Given the description of an element on the screen output the (x, y) to click on. 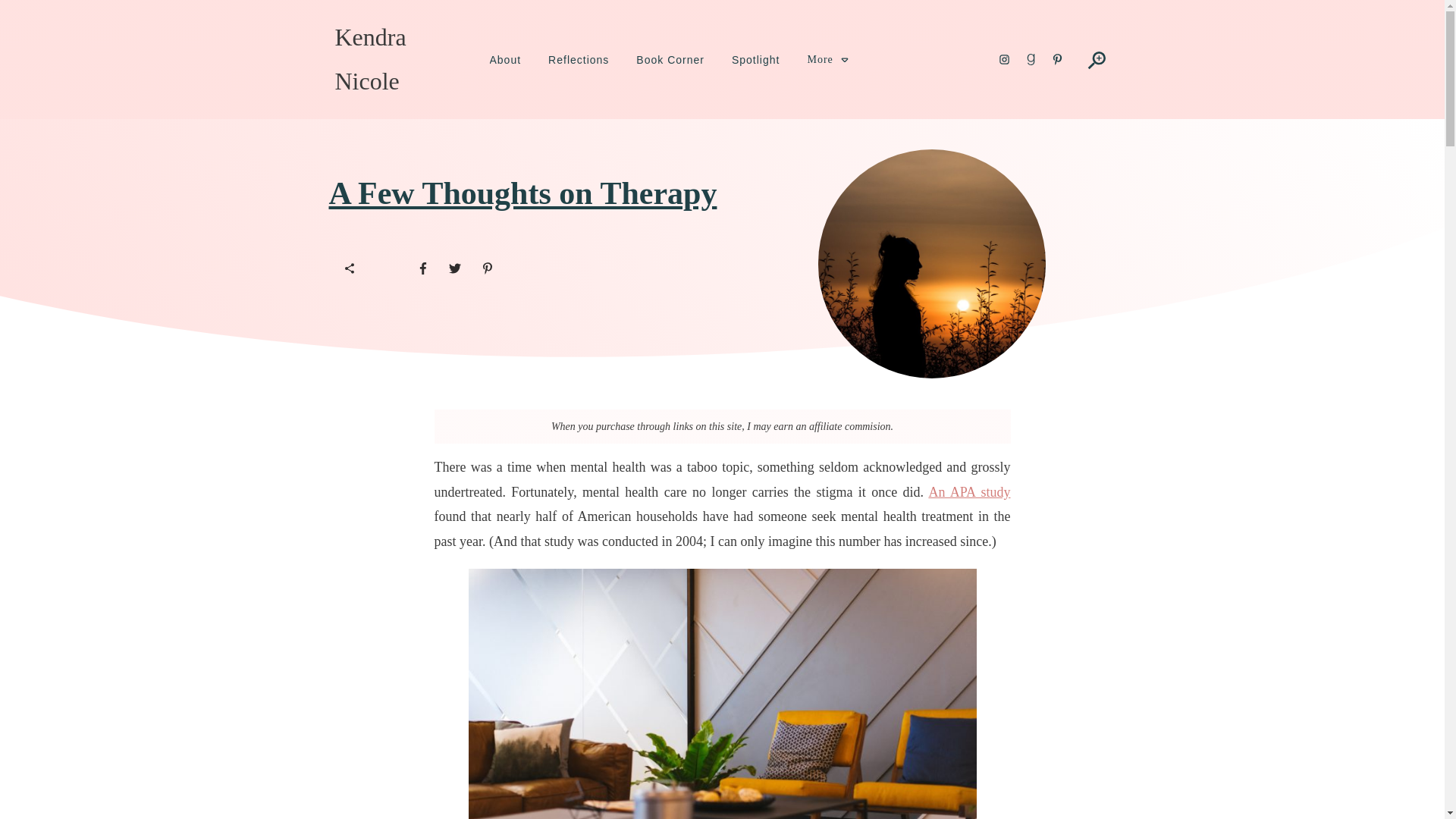
Kendra Nicole (370, 59)
A Few Thoughts on Therapy (523, 193)
Reflections (578, 59)
Book Corner (670, 59)
More (827, 59)
A Few Thoughts on Therapy (523, 193)
About (505, 59)
Spotlight (755, 59)
An APA study (969, 491)
